Given the description of an element on the screen output the (x, y) to click on. 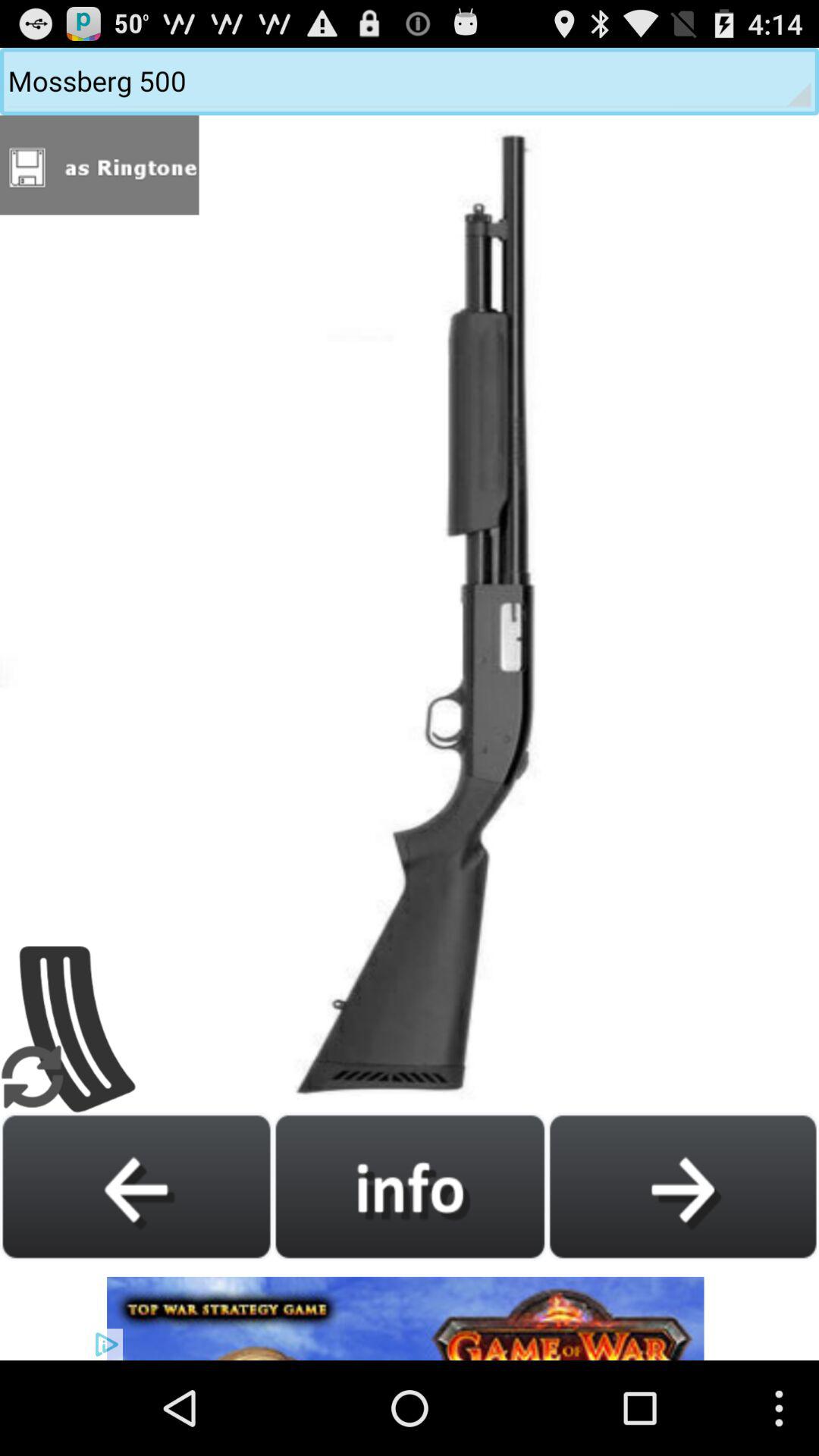
go back (136, 1186)
